Given the description of an element on the screen output the (x, y) to click on. 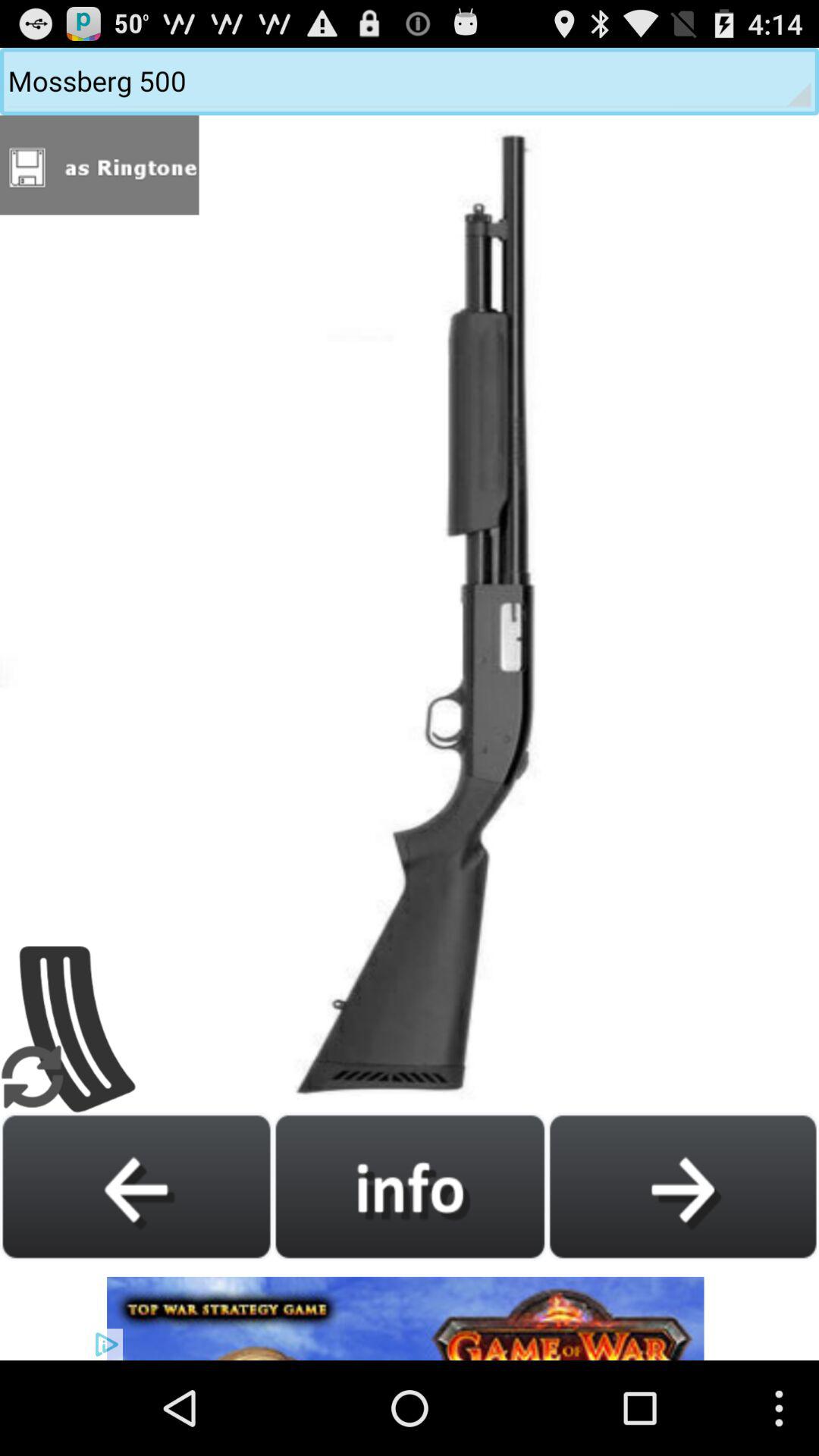
go back (136, 1186)
